Given the description of an element on the screen output the (x, y) to click on. 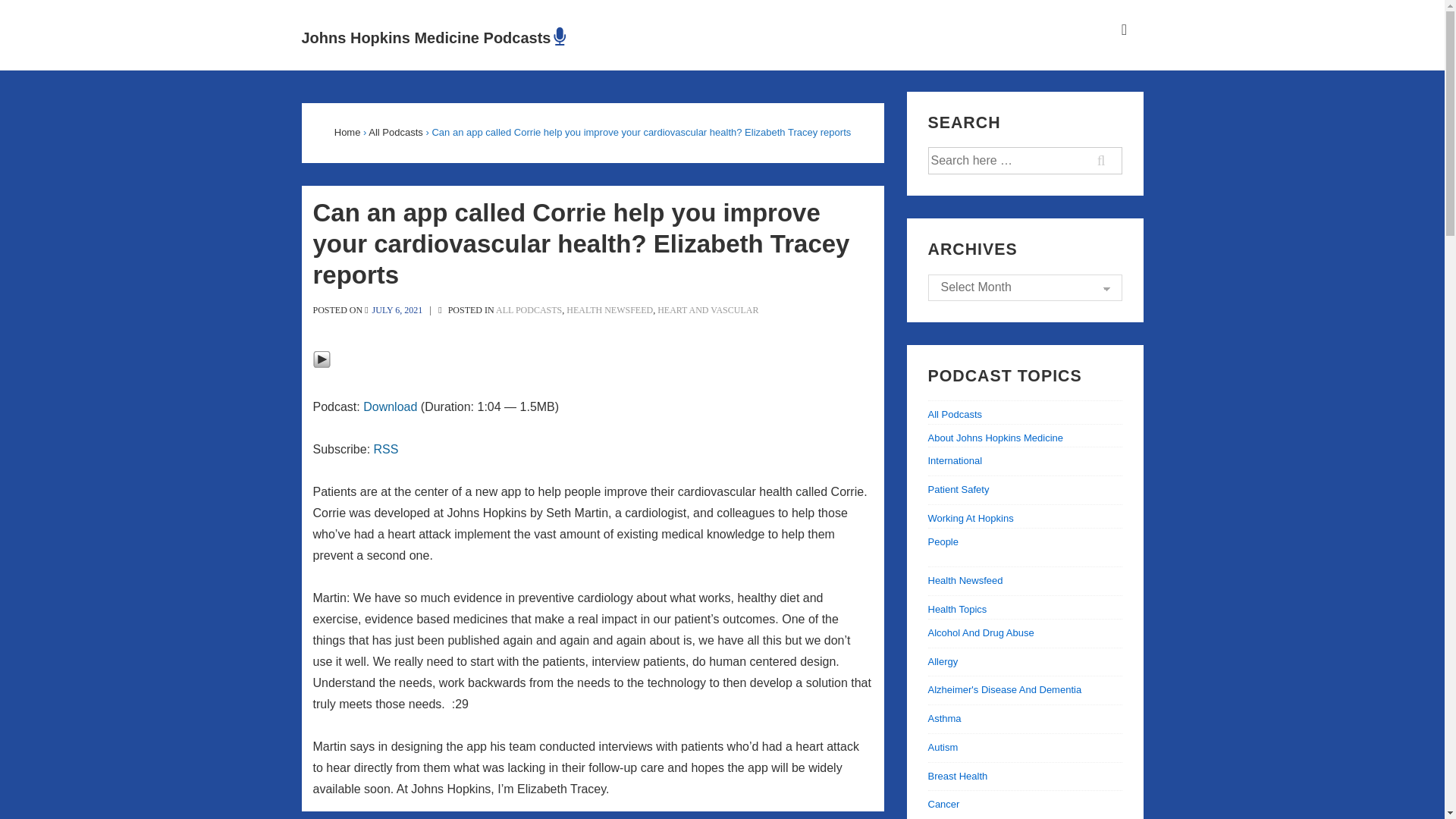
JULY 6, 2021 (397, 309)
Download (389, 406)
About Johns Hopkins Medicine (996, 437)
ALL PODCASTS (529, 309)
Alzheimer's Disease And Dementia (1004, 689)
Subscribe via RSS (386, 449)
HEART AND VASCULAR (708, 309)
Asthma (944, 717)
Play (321, 359)
